Given the description of an element on the screen output the (x, y) to click on. 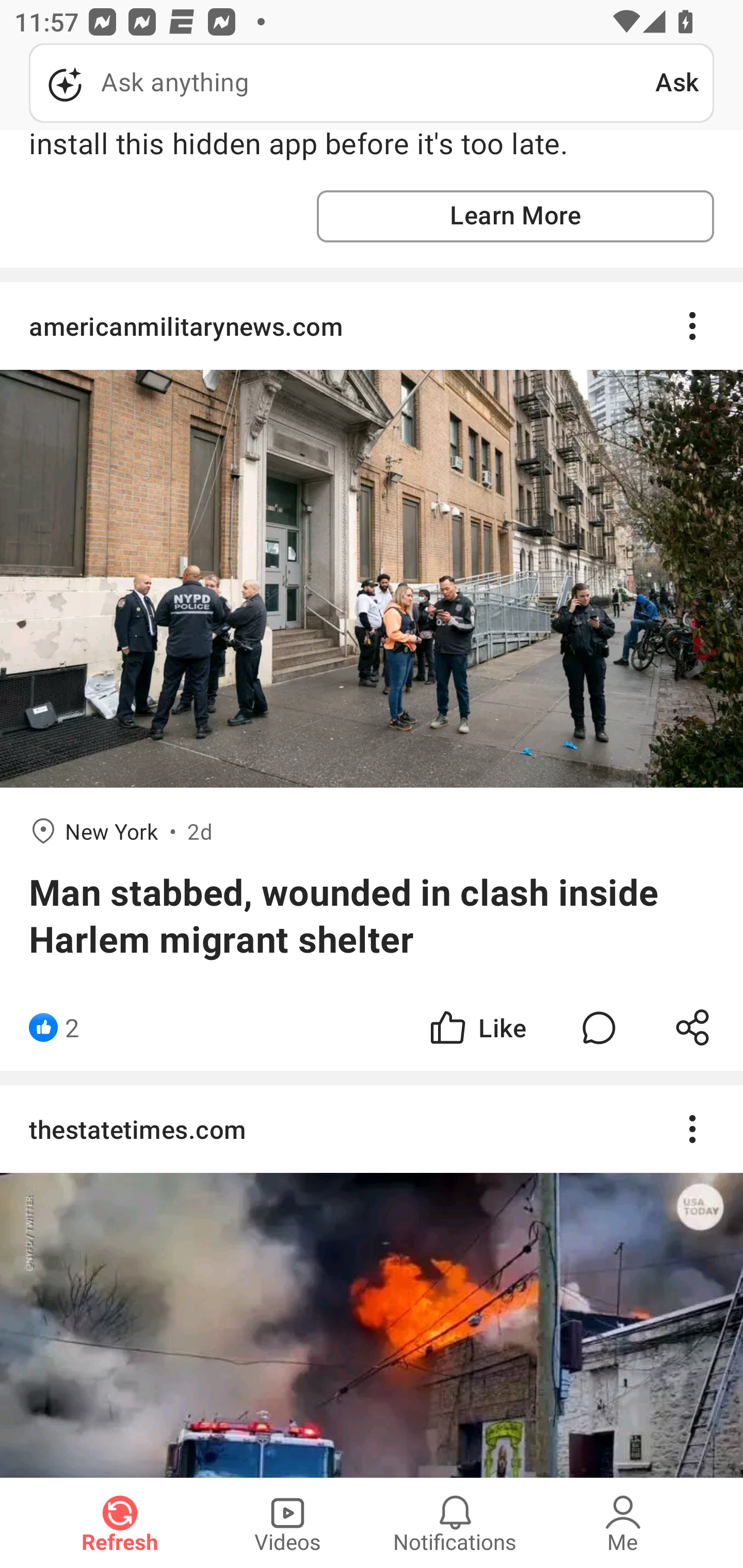
Ask anything (341, 82)
Learn More (515, 216)
americanmilitarynews.com (371, 326)
2 (72, 1027)
Like (476, 1027)
thestatetimes.com (371, 1281)
thestatetimes.com (371, 1128)
Videos (287, 1522)
Notifications (455, 1522)
Me (622, 1522)
